Given the description of an element on the screen output the (x, y) to click on. 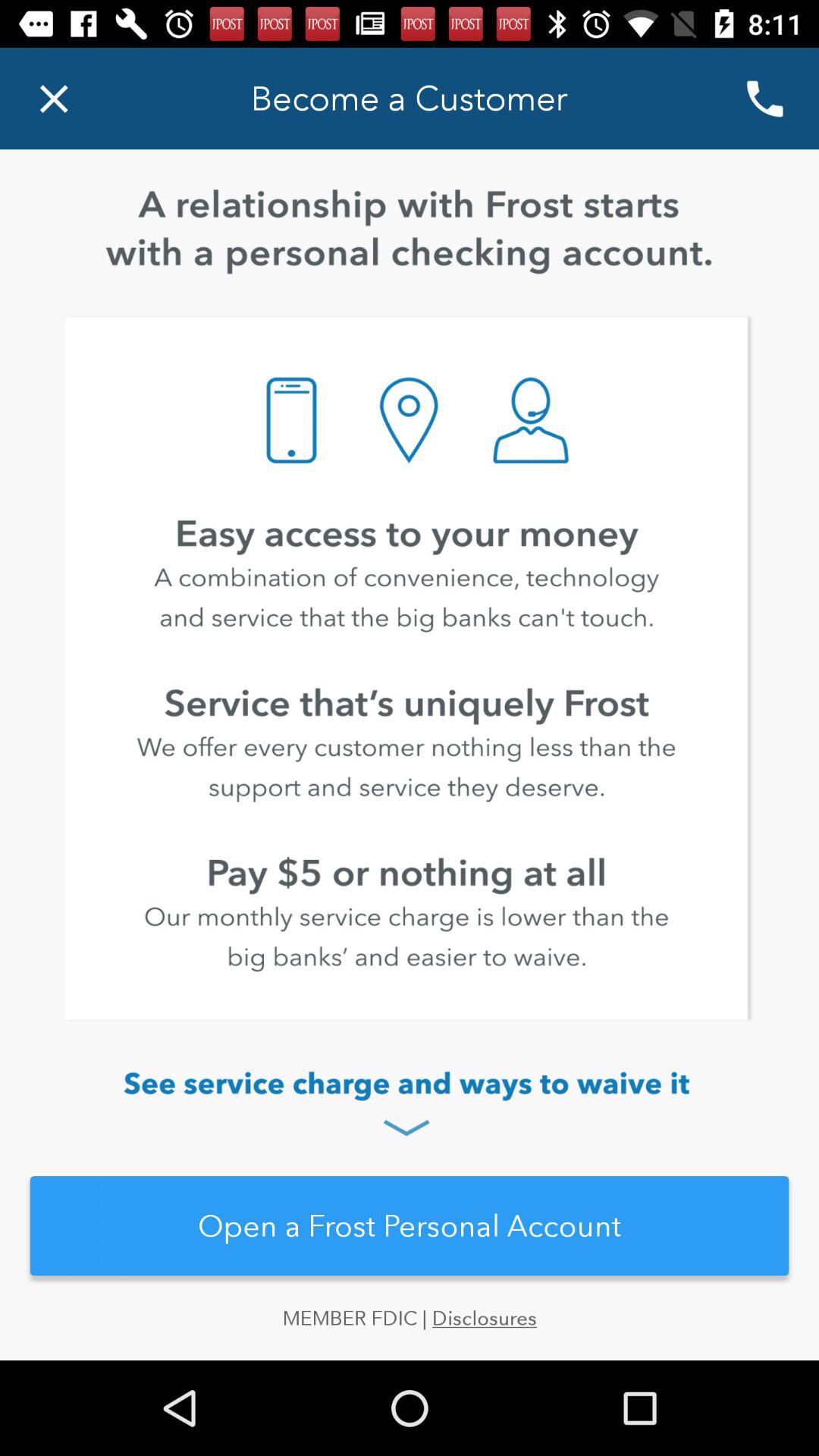
turn on the item above the open a frost item (409, 1106)
